Given the description of an element on the screen output the (x, y) to click on. 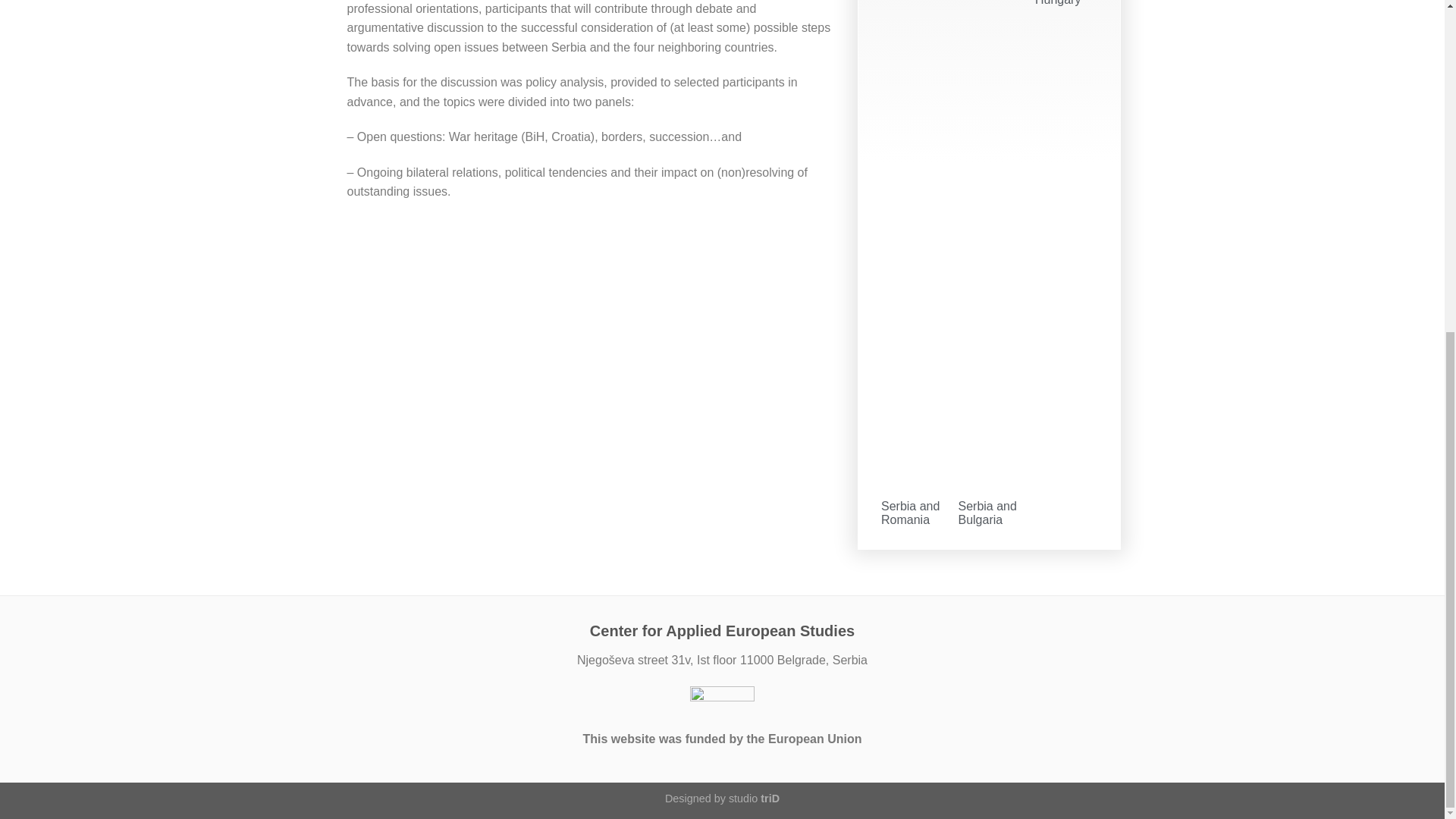
studio triD (753, 798)
Serbia and Romania (909, 512)
Serbia and Hungary (1064, 2)
Serbia and Bulgaria (987, 512)
